Given the description of an element on the screen output the (x, y) to click on. 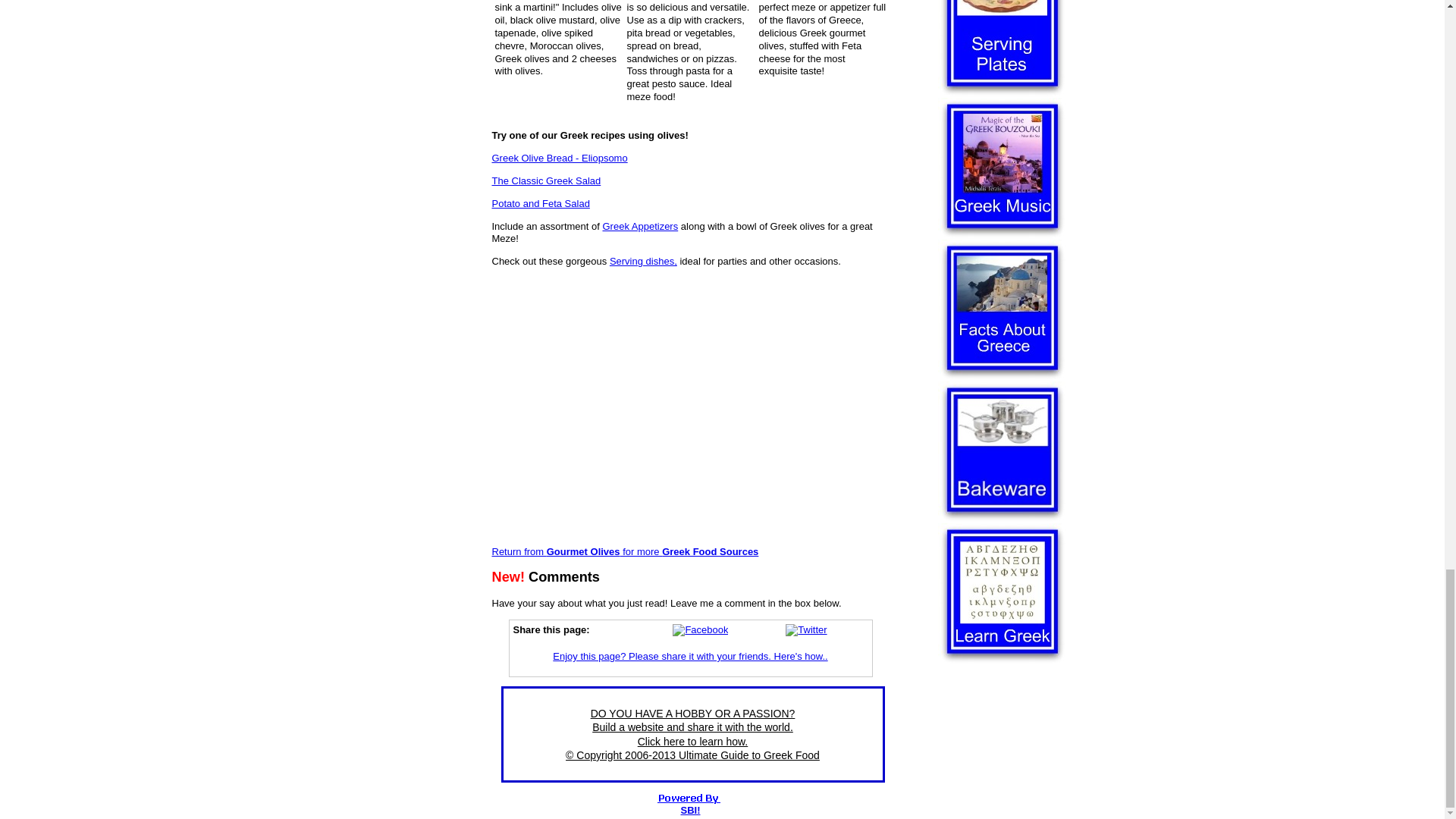
Click to see Our Collection of Serving Plates (1001, 48)
Greek Music (1001, 168)
Learn Greek! (1001, 594)
Facts on Greece (1001, 310)
Click for Bakeware (1001, 452)
Advertisement (689, 407)
